Given the description of an element on the screen output the (x, y) to click on. 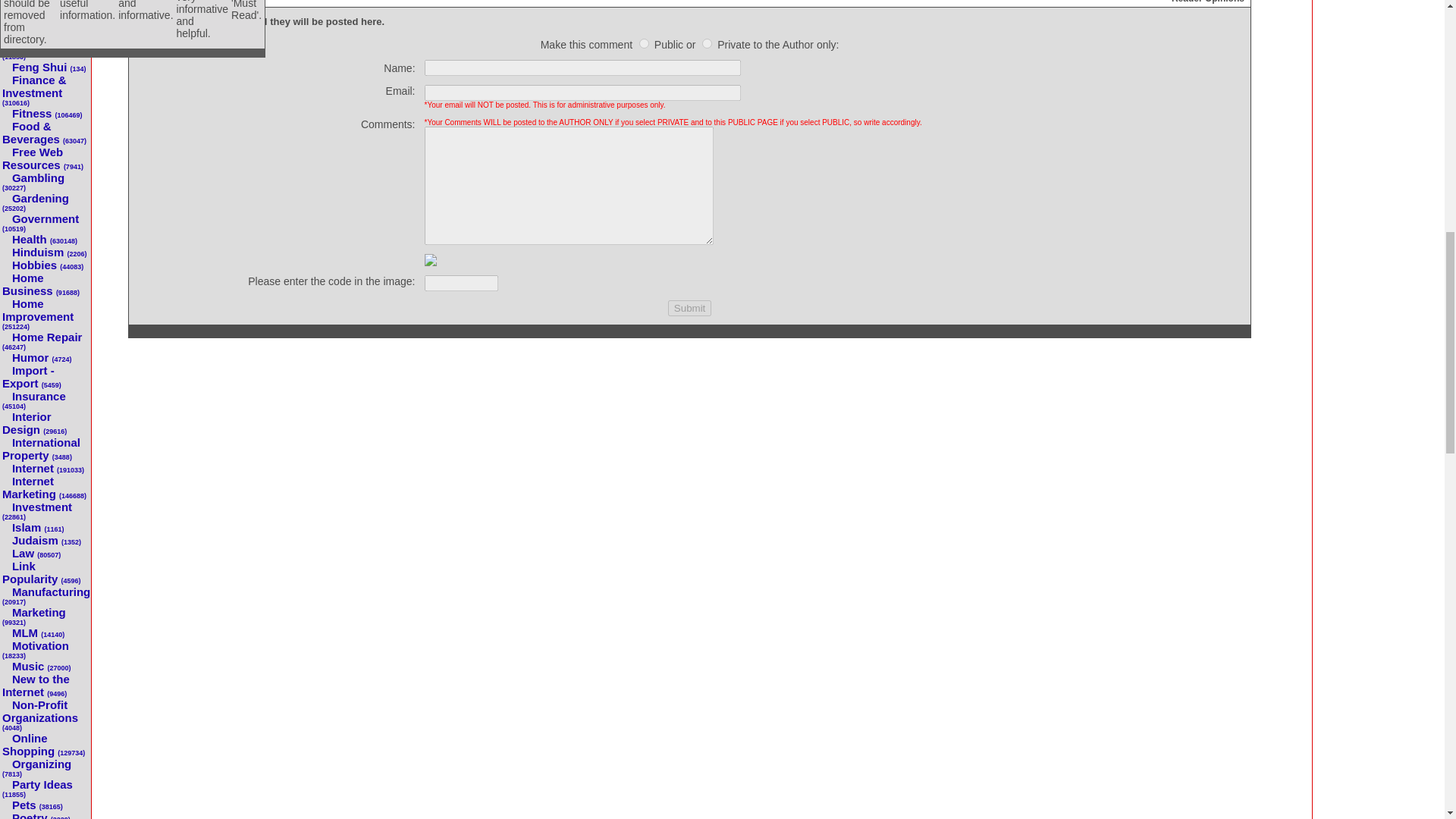
Private (706, 43)
Submit (689, 308)
Public (644, 43)
